Given the description of an element on the screen output the (x, y) to click on. 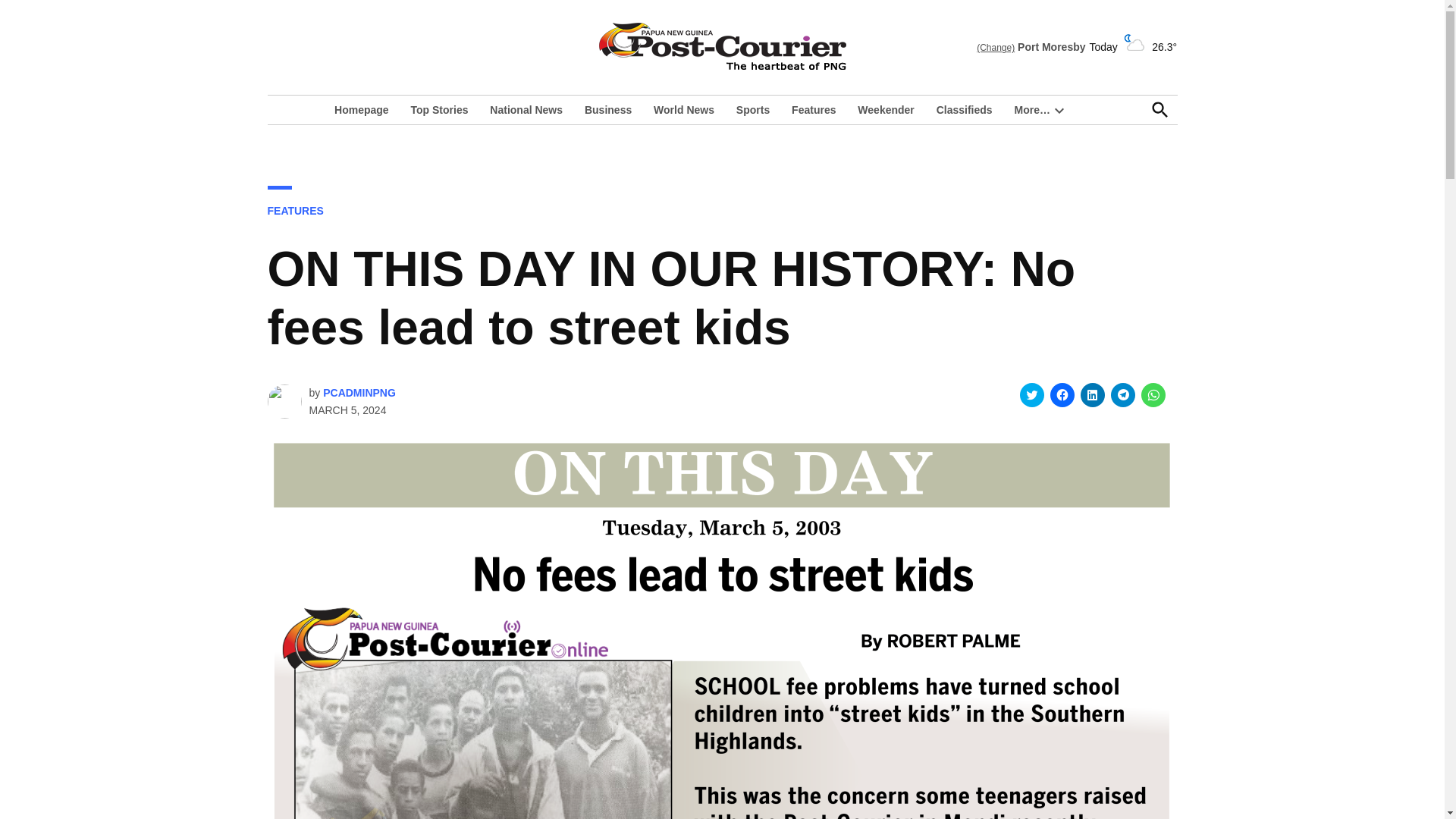
Top Stories (439, 109)
Sports (753, 109)
Click to share on WhatsApp (1152, 395)
Open dropdown menu (1058, 110)
Features (813, 109)
Click to share on Telegram (1121, 395)
National News (525, 109)
Click to share on LinkedIn (1091, 395)
Business (607, 109)
Click to change location (995, 47)
